Given the description of an element on the screen output the (x, y) to click on. 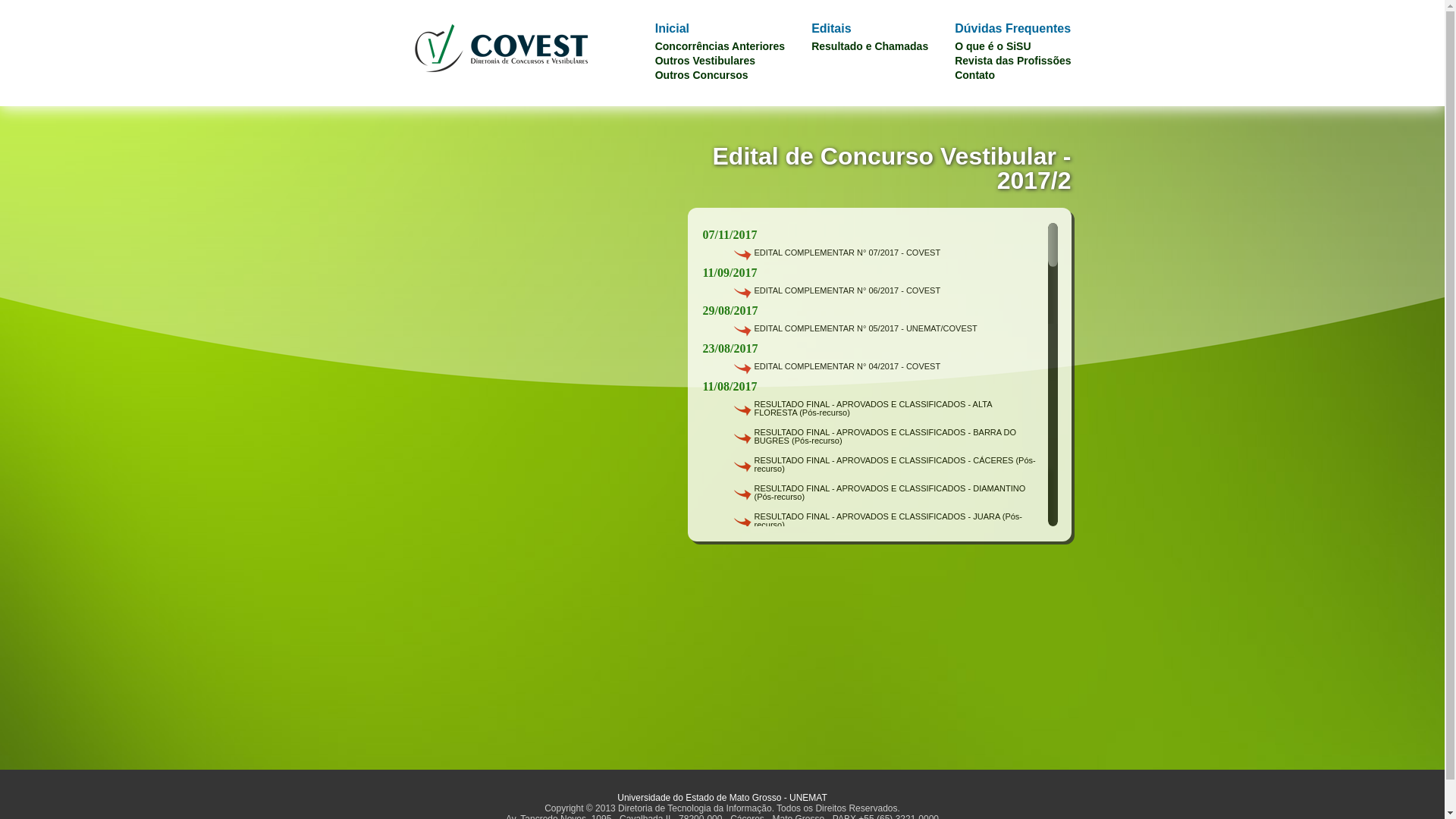
Inicial Element type: text (672, 27)
Outros Vestibulares Element type: text (705, 60)
Resultado e Chamadas Element type: text (869, 46)
Editais Element type: text (830, 27)
Universidade do Estado de Mato Grosso - UNEMAT Element type: text (722, 797)
Outros Concursos Element type: text (701, 75)
Contato Element type: text (974, 75)
